Given the description of an element on the screen output the (x, y) to click on. 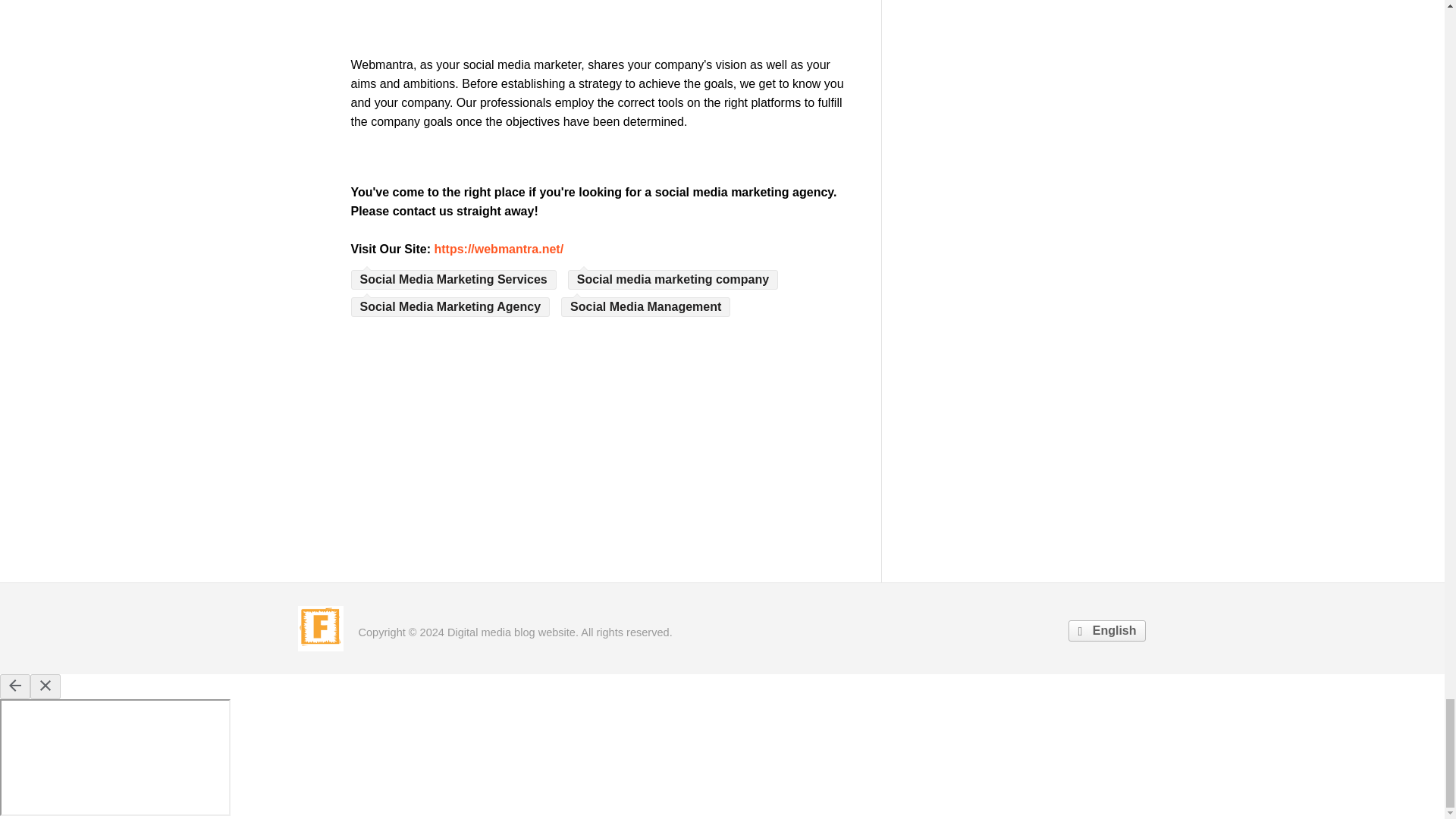
ROI Driven Social Media Management Agency (498, 248)
